Given the description of an element on the screen output the (x, y) to click on. 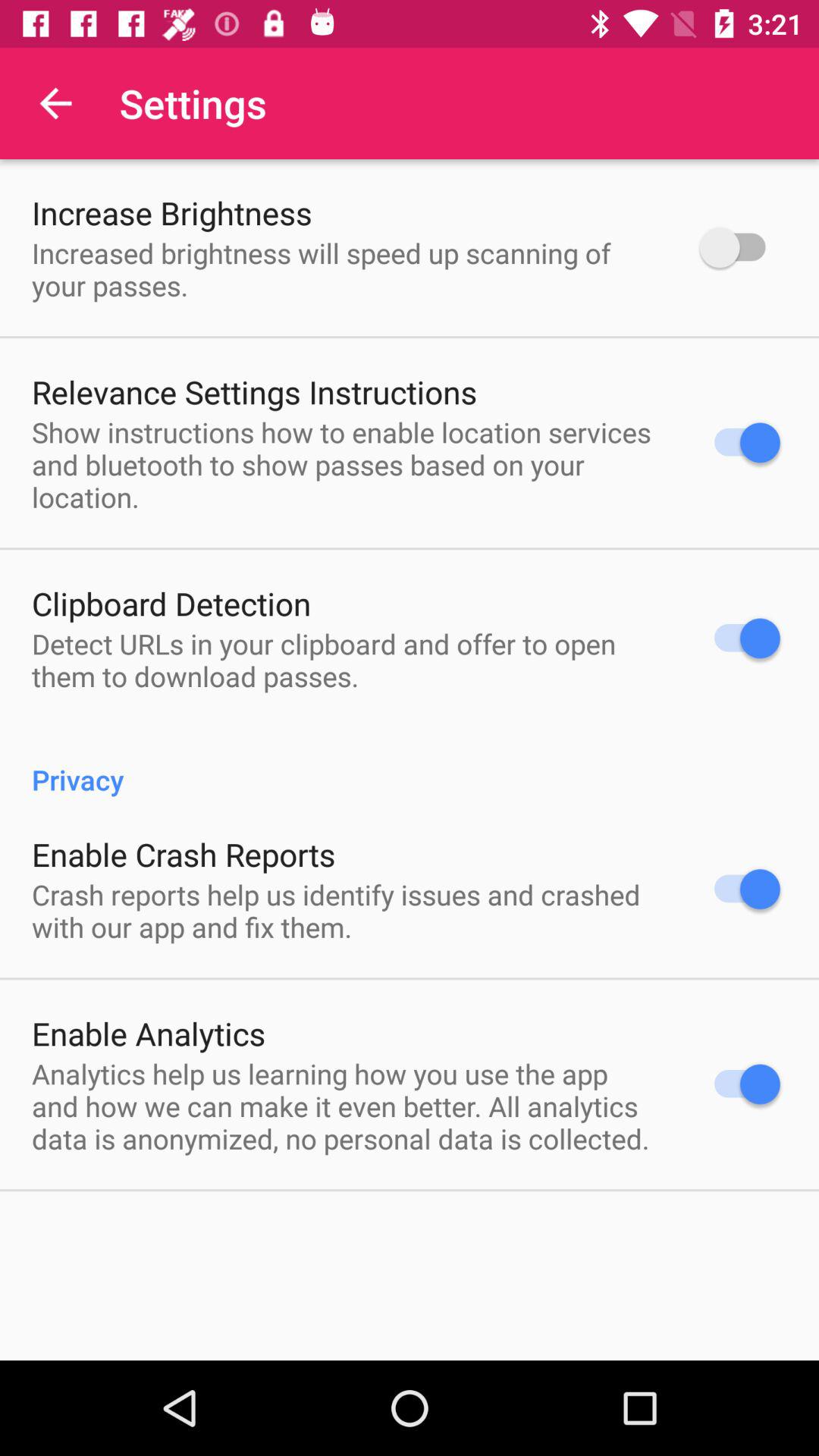
swipe to the enable analytics item (148, 1033)
